Given the description of an element on the screen output the (x, y) to click on. 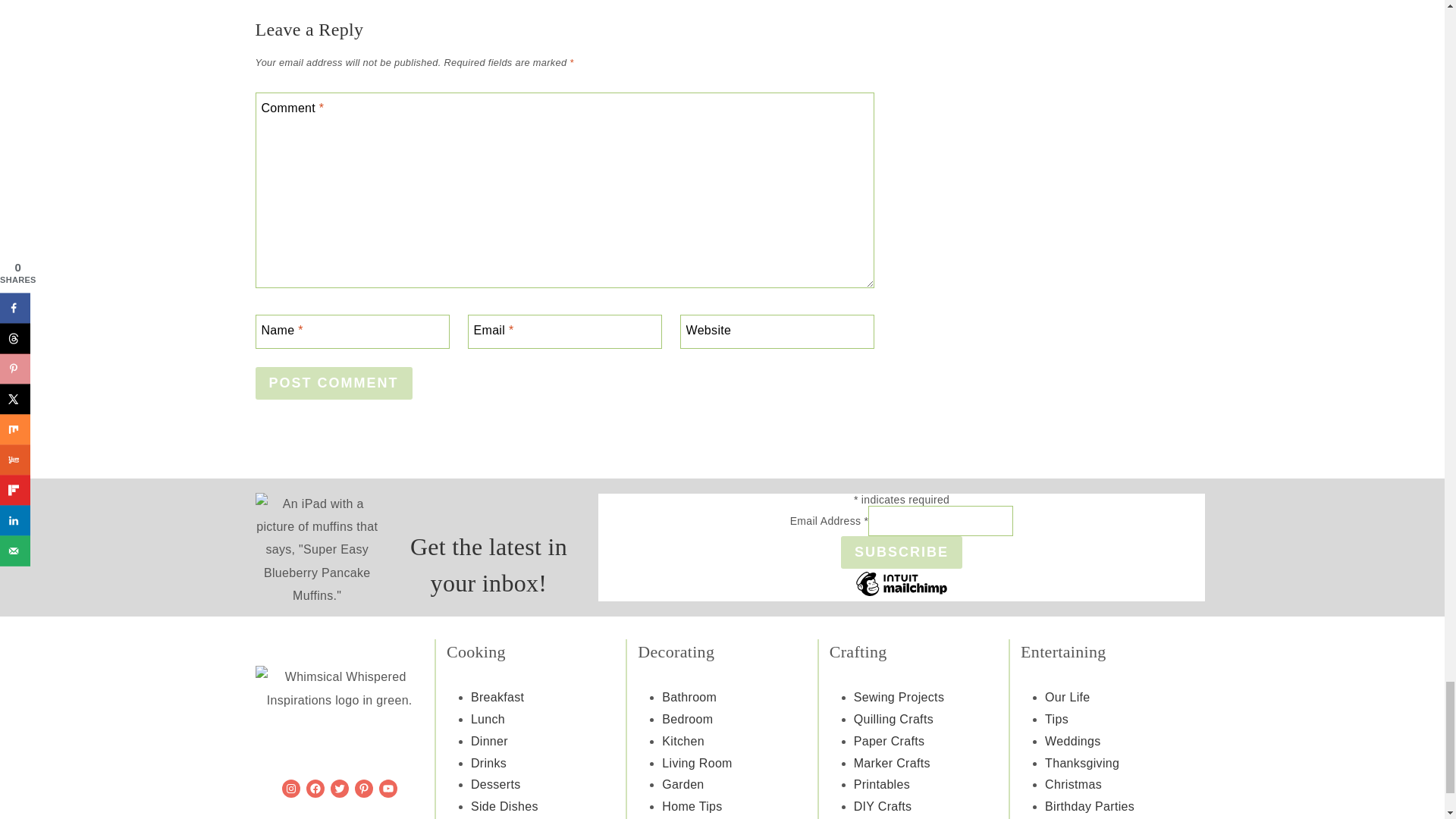
Post Comment (333, 382)
Subscribe (901, 552)
